Given the description of an element on the screen output the (x, y) to click on. 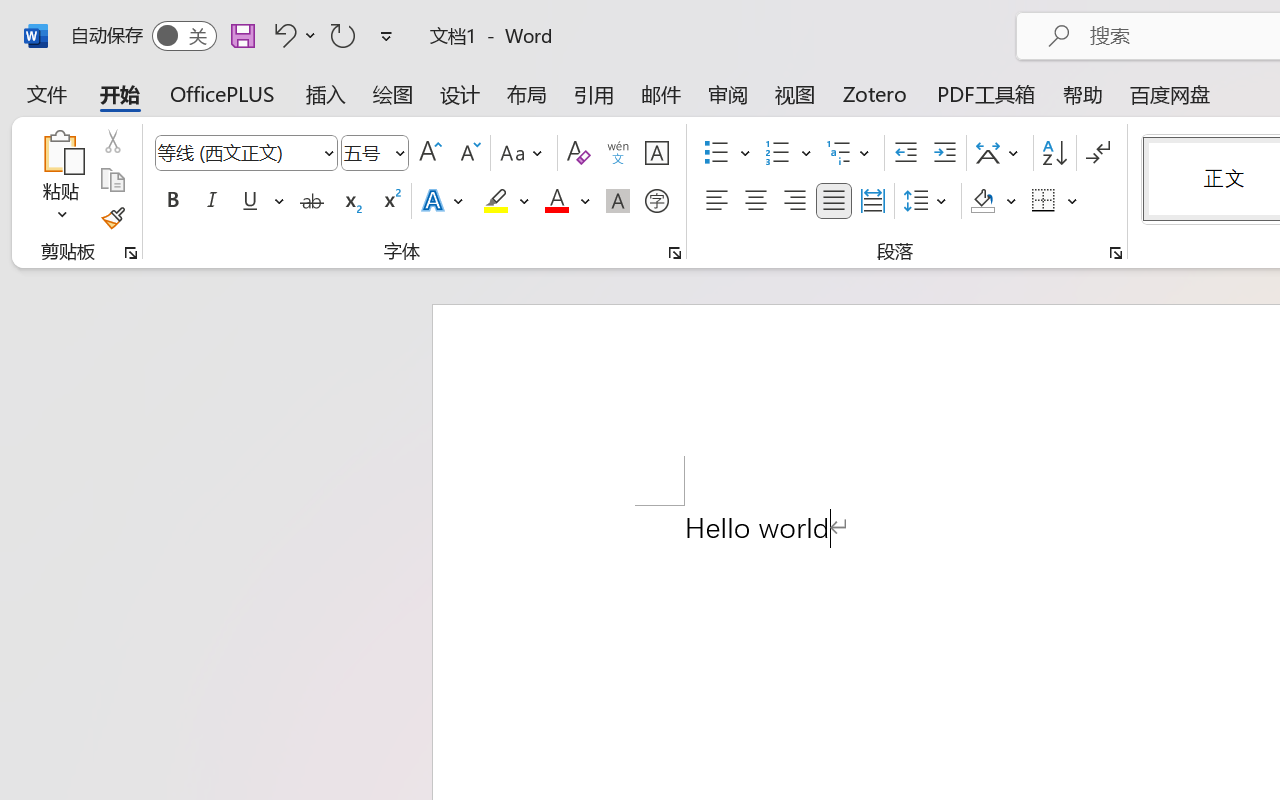
OfficePLUS (222, 94)
